Given the description of an element on the screen output the (x, y) to click on. 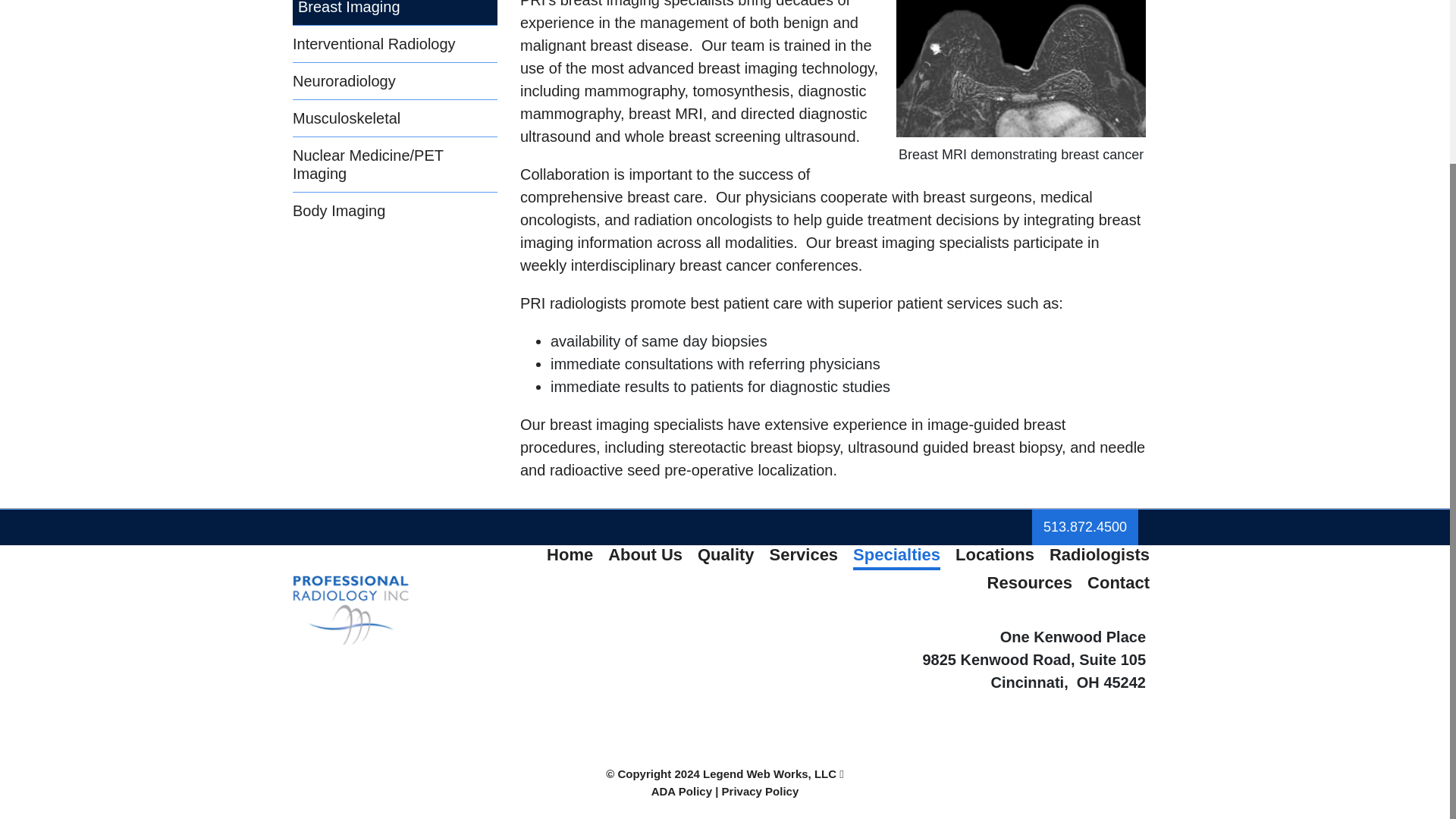
Neuroradiology (394, 80)
External Link (773, 773)
Interventional Radiology (394, 43)
External Link (1085, 527)
Breast Imaging (394, 12)
